Given the description of an element on the screen output the (x, y) to click on. 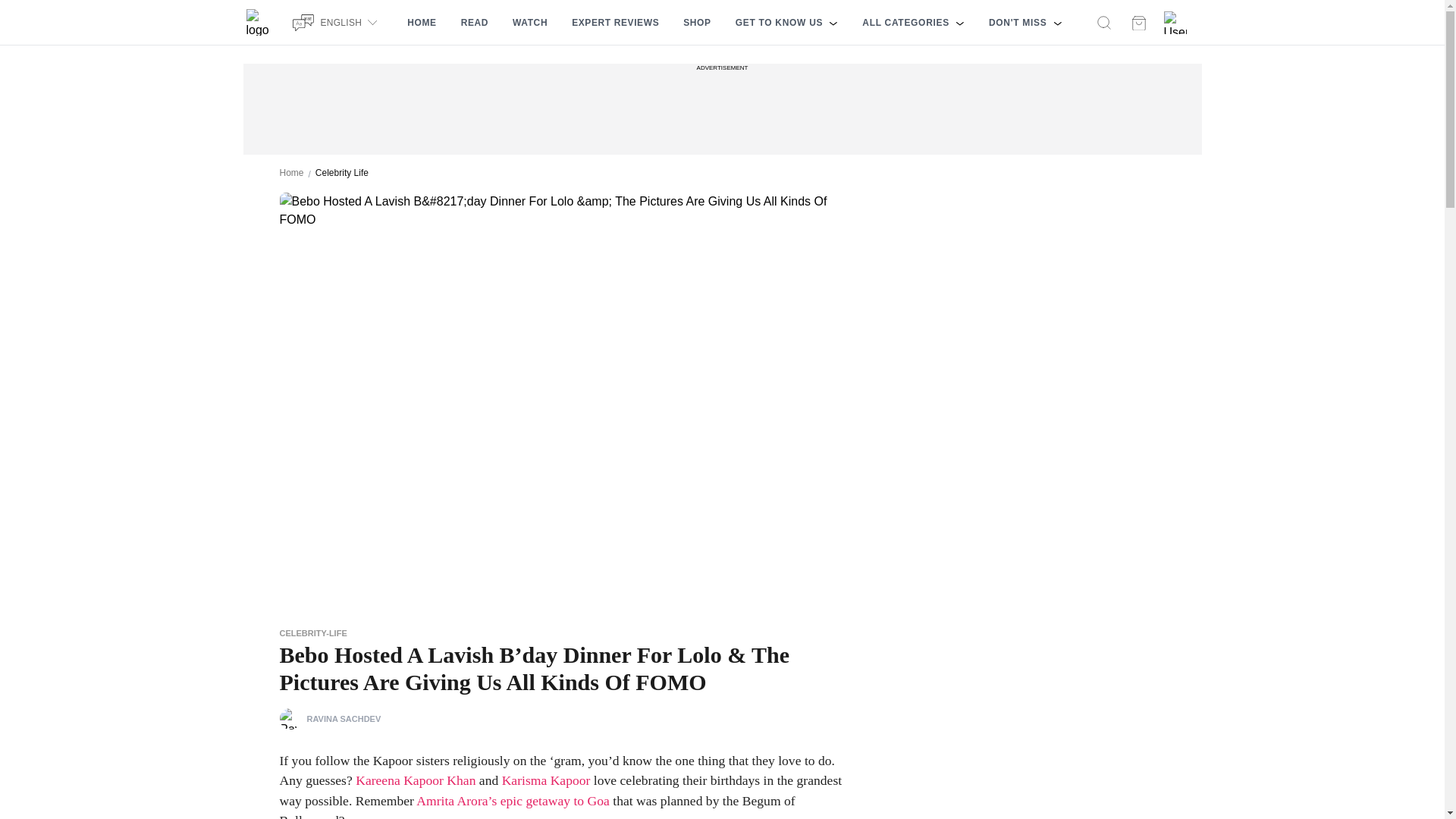
SHOP (696, 22)
Kareena Kapoor Khan (415, 780)
HOME (421, 22)
READ (474, 22)
WATCH (529, 22)
RAVINA SACHDEV (329, 718)
Celebrity Life (341, 173)
CELEBRITY-LIFE (312, 633)
Ravina Sachdev (289, 718)
ENGLISH (337, 22)
